Given the description of an element on the screen output the (x, y) to click on. 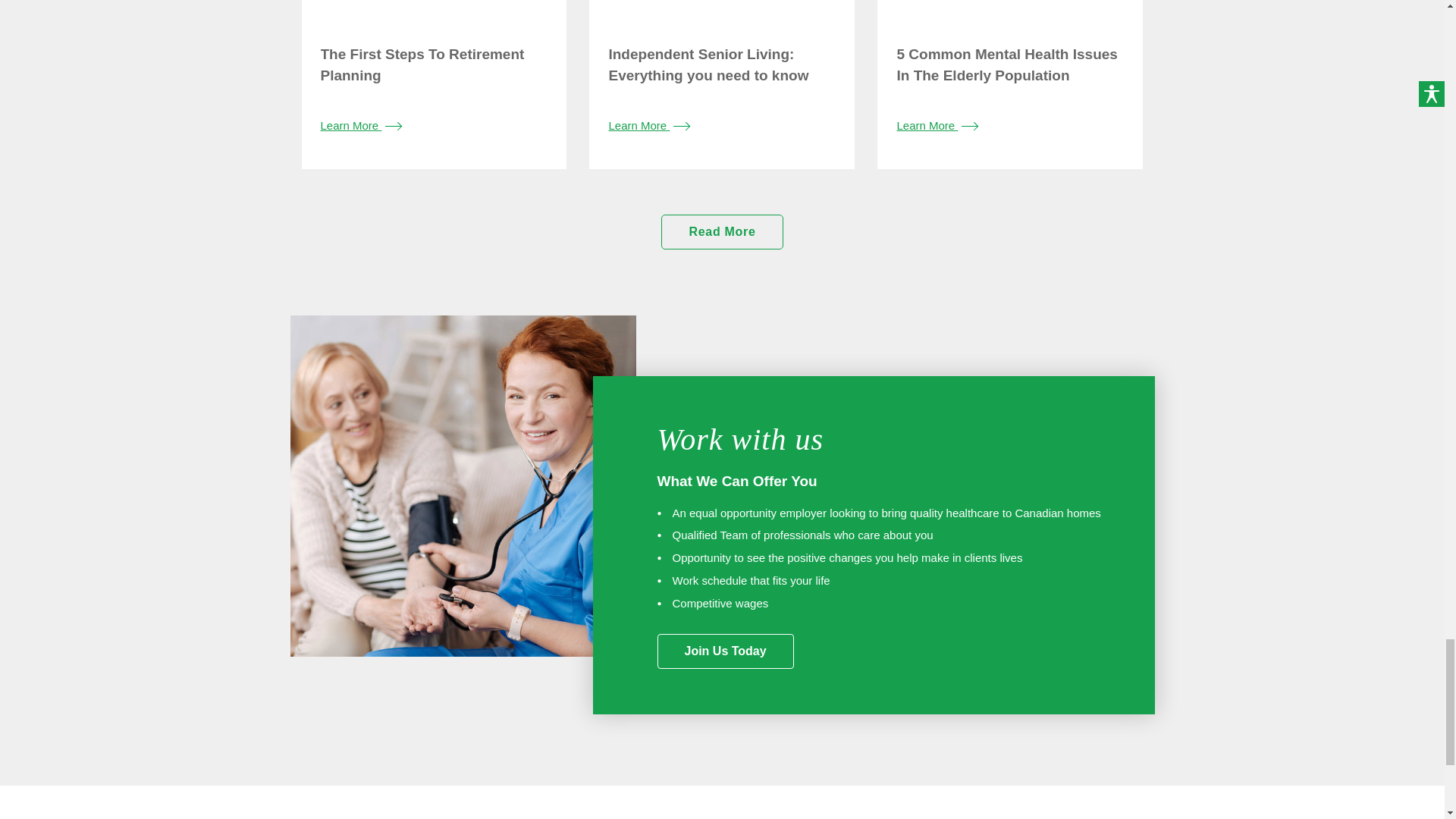
5 Common Mental Health Issues In The Elderly Population (1009, 13)
Independent Senior Living: Everything you need to know (708, 64)
The First Steps To Retirement Planning (422, 64)
Independent Senior Living: Everything you need to know (649, 124)
The First Steps To Retirement Planning (361, 124)
5 Common Mental Health Issues In The Elderly Population (937, 124)
Independent Senior Living: Everything you need to know (721, 13)
5 Common Mental Health Issues In The Elderly Population (1006, 64)
The First Steps To Retirement Planning (434, 13)
